Given the description of an element on the screen output the (x, y) to click on. 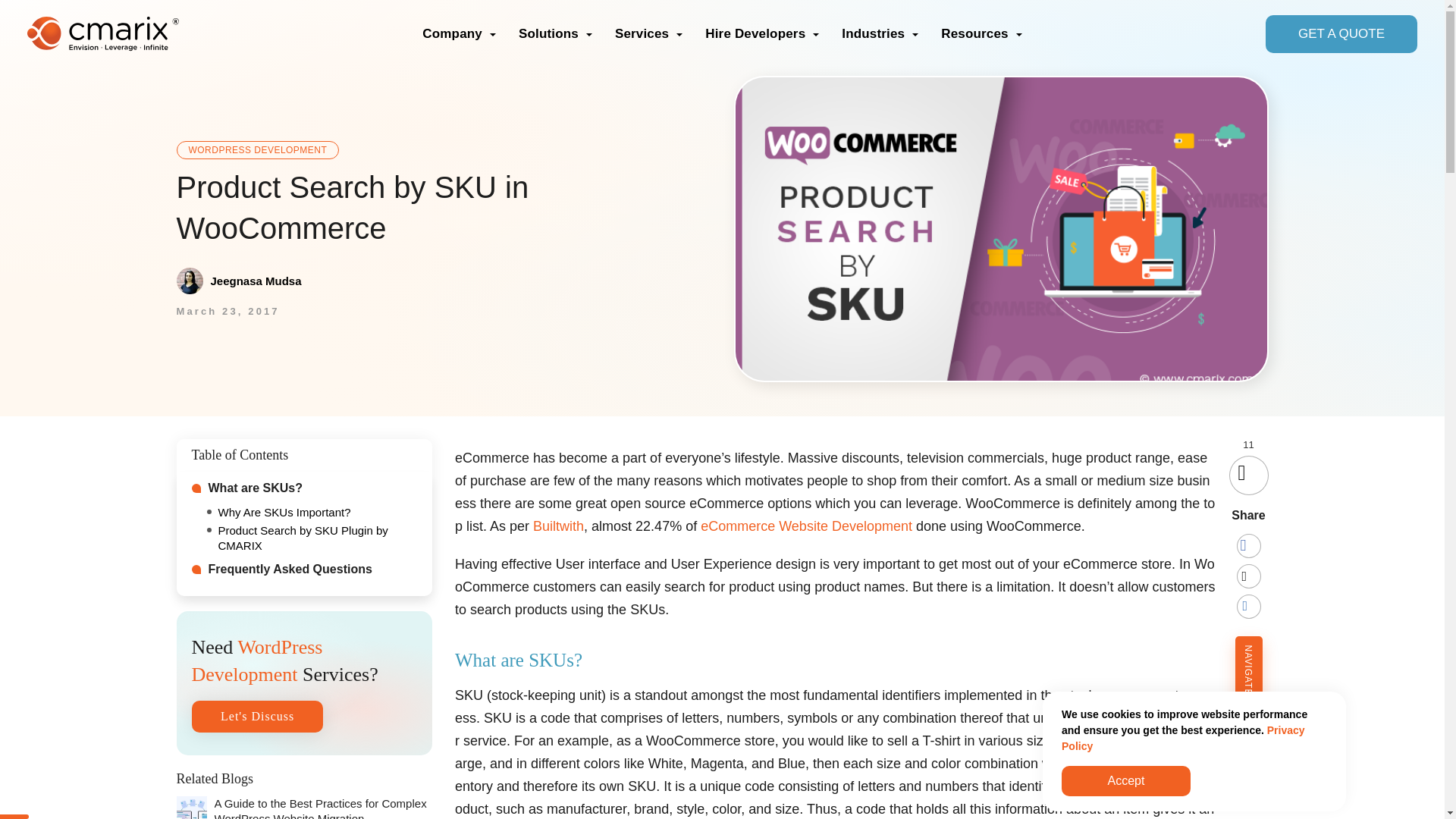
Company (459, 33)
Privacy Policy (1182, 737)
Privacy Policy (1182, 737)
Jeegnasa Mudsa (238, 280)
Wordpress Development (257, 149)
Solutions (555, 33)
